Given the description of an element on the screen output the (x, y) to click on. 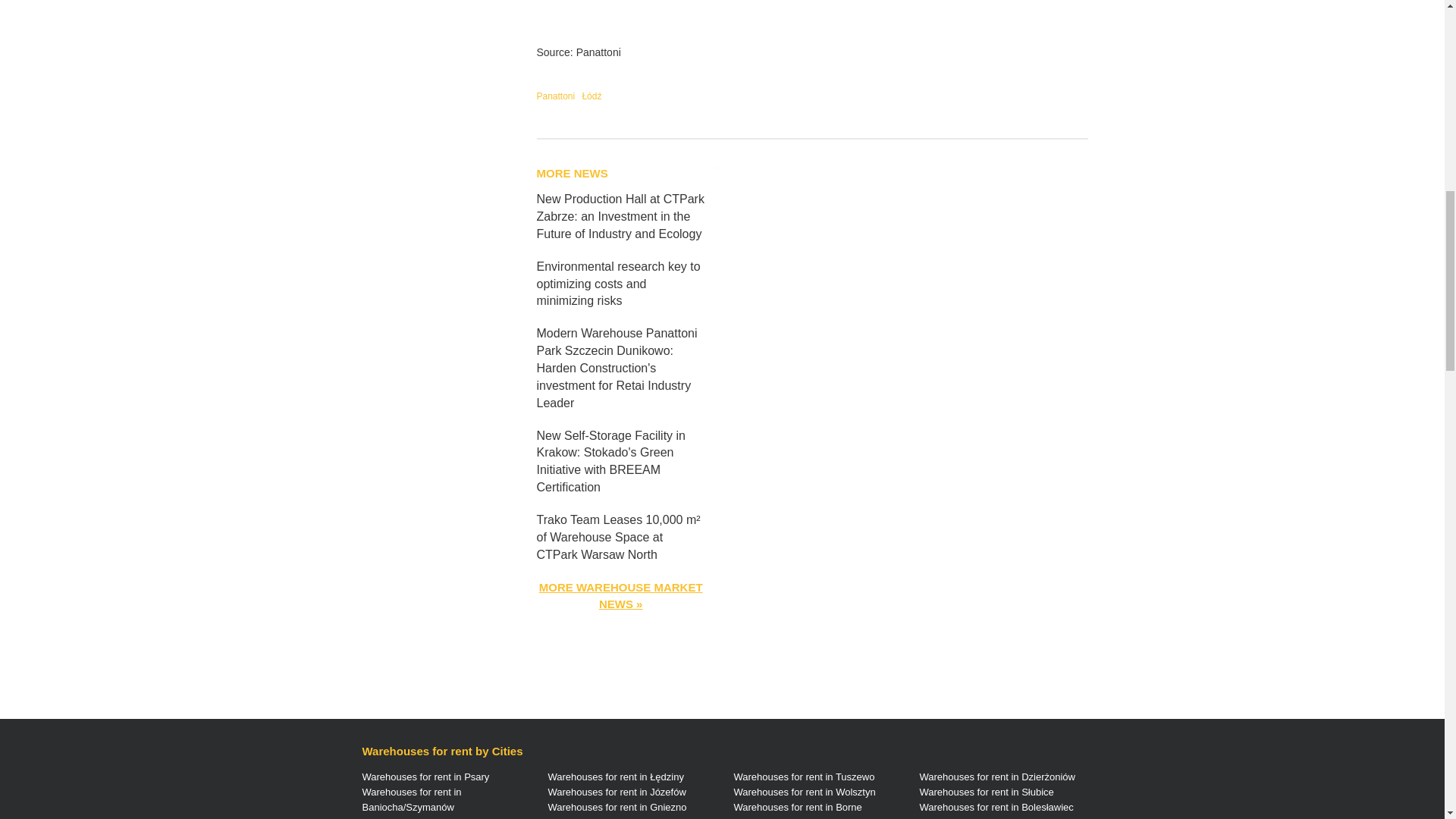
Panattoni (556, 95)
MORE WAREHOUSE MARKET NEWS (620, 595)
Warehouses for rent in Psary (425, 776)
Warehouses for rent in Psary (425, 776)
Warehouses for rent in Wolsztyn (804, 791)
Warehouses for rent in Tuszewo (804, 776)
Warehouses for rent in Tuszewo (804, 776)
